Given the description of an element on the screen output the (x, y) to click on. 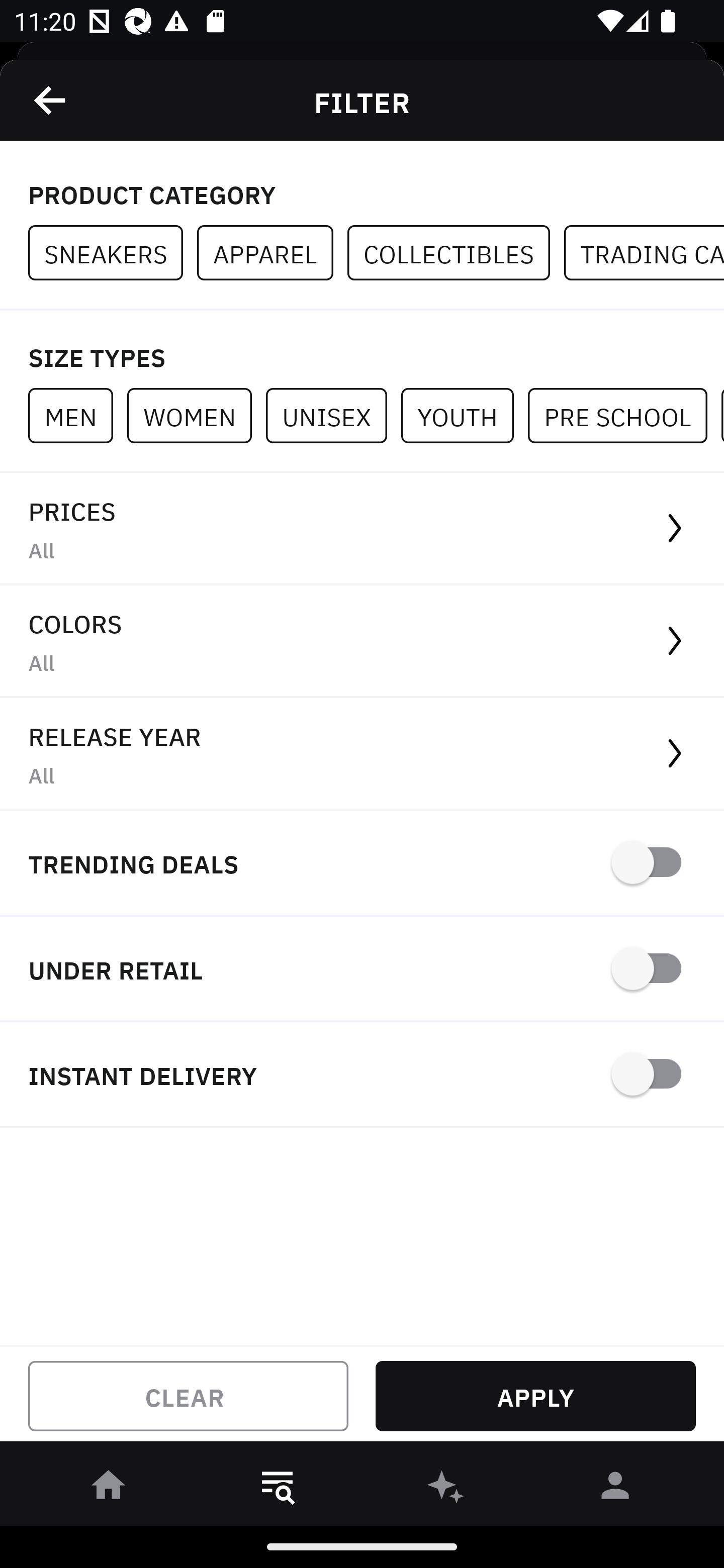
 (50, 100)
SNEAKERS (112, 252)
APPAREL (271, 252)
COLLECTIBLES (455, 252)
TRADING CARDS (643, 252)
MEN (77, 415)
WOMEN (196, 415)
UNISEX (333, 415)
YOUTH (464, 415)
PRE SCHOOL (624, 415)
PRICES All (362, 528)
COLORS All (362, 640)
RELEASE YEAR All (362, 753)
TRENDING DEALS (362, 863)
UNDER RETAIL (362, 969)
INSTANT DELIVERY (362, 1075)
CLEAR  (188, 1396)
APPLY (535, 1396)
󰋜 (108, 1488)
󱎸 (277, 1488)
󰫢 (446, 1488)
󰀄 (615, 1488)
